Given the description of an element on the screen output the (x, y) to click on. 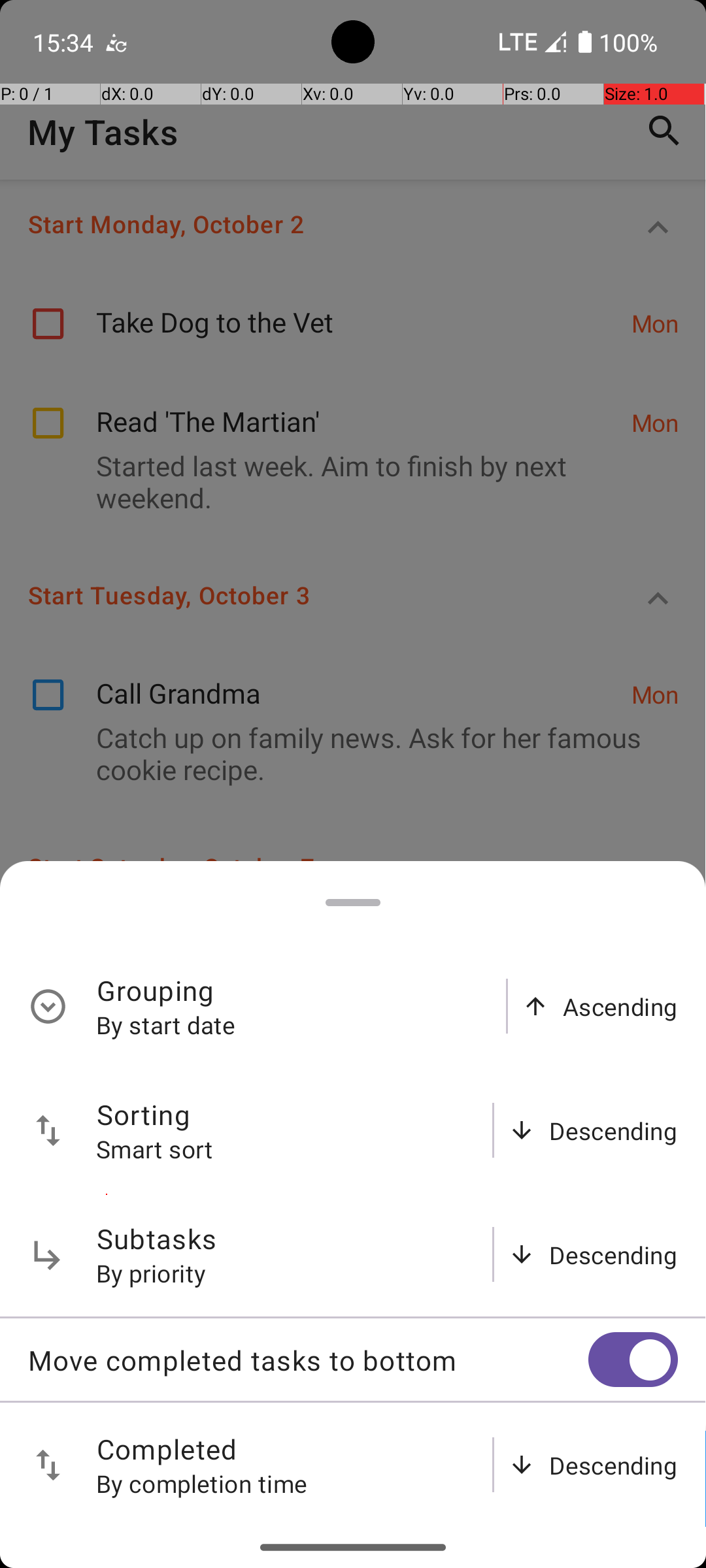
Grouping Element type: android.widget.TextView (155, 989)
By start date Element type: android.widget.TextView (165, 1024)
Sorting Element type: android.widget.TextView (143, 1113)
Smart sort Element type: android.widget.TextView (154, 1148)
Subtasks Element type: android.widget.TextView (156, 1238)
By priority Element type: android.widget.TextView (151, 1273)
Move completed tasks to bottom Element type: android.widget.TextView (307, 1359)
Completed Element type: android.widget.TextView (166, 1448)
By completion time Element type: android.widget.TextView (201, 1483)
Ascending Element type: android.widget.TextView (619, 1006)
Descending Element type: android.widget.TextView (613, 1130)
